Given the description of an element on the screen output the (x, y) to click on. 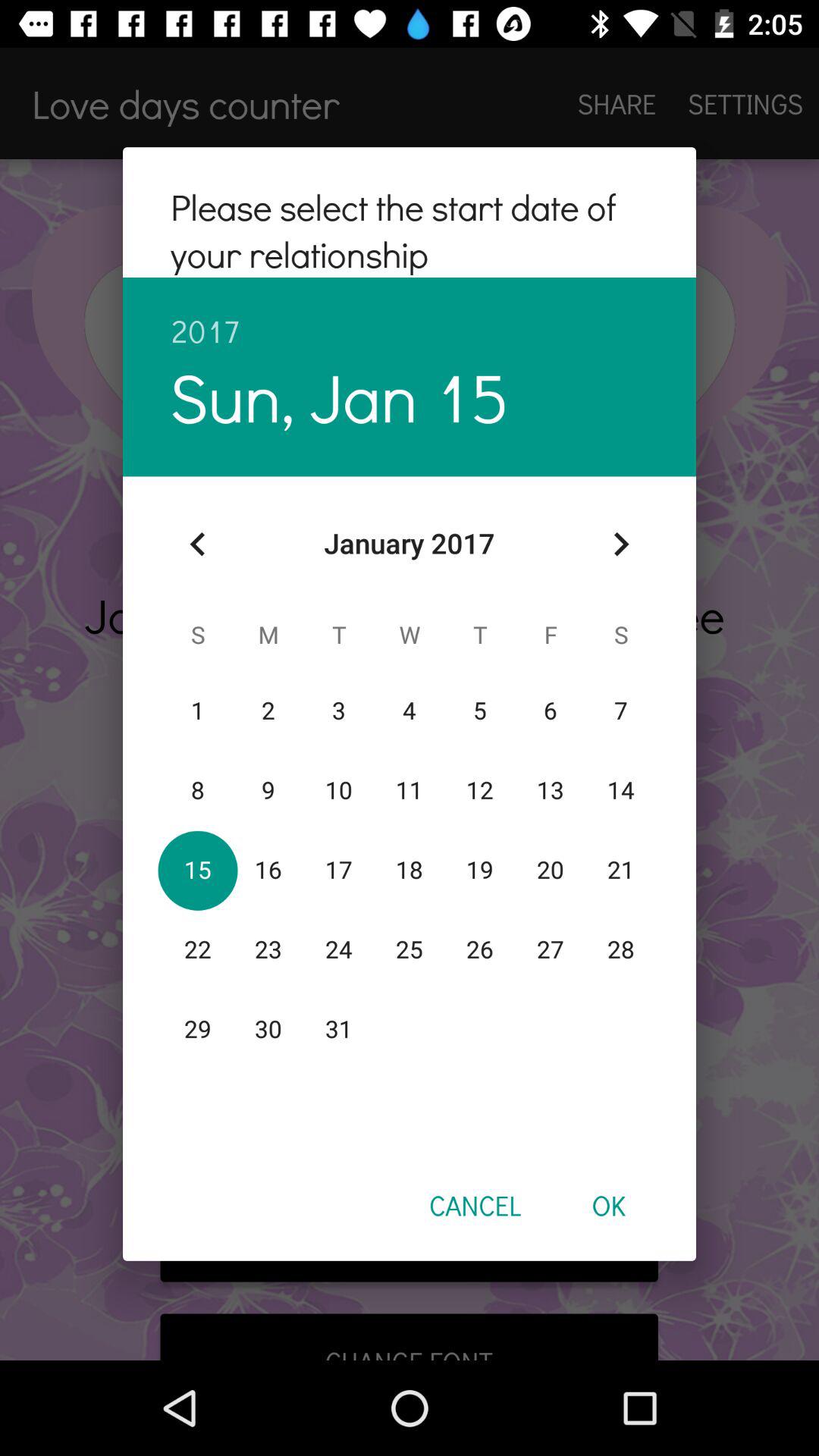
click sun, jan 15 item (339, 395)
